Given the description of an element on the screen output the (x, y) to click on. 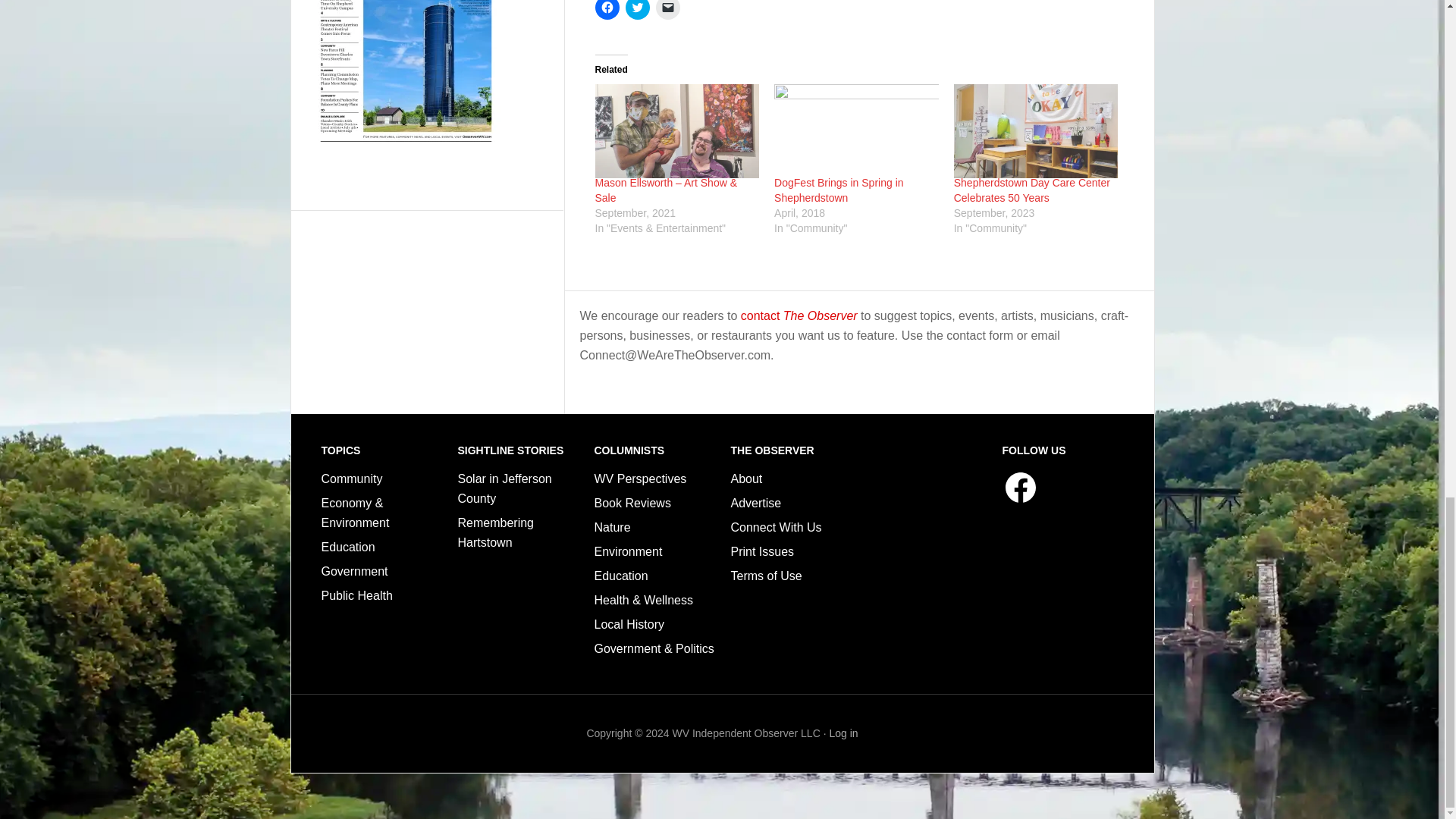
Click to share on Facebook (606, 9)
Click to email a link to a friend (667, 9)
Click to share on Twitter (636, 9)
